Given the description of an element on the screen output the (x, y) to click on. 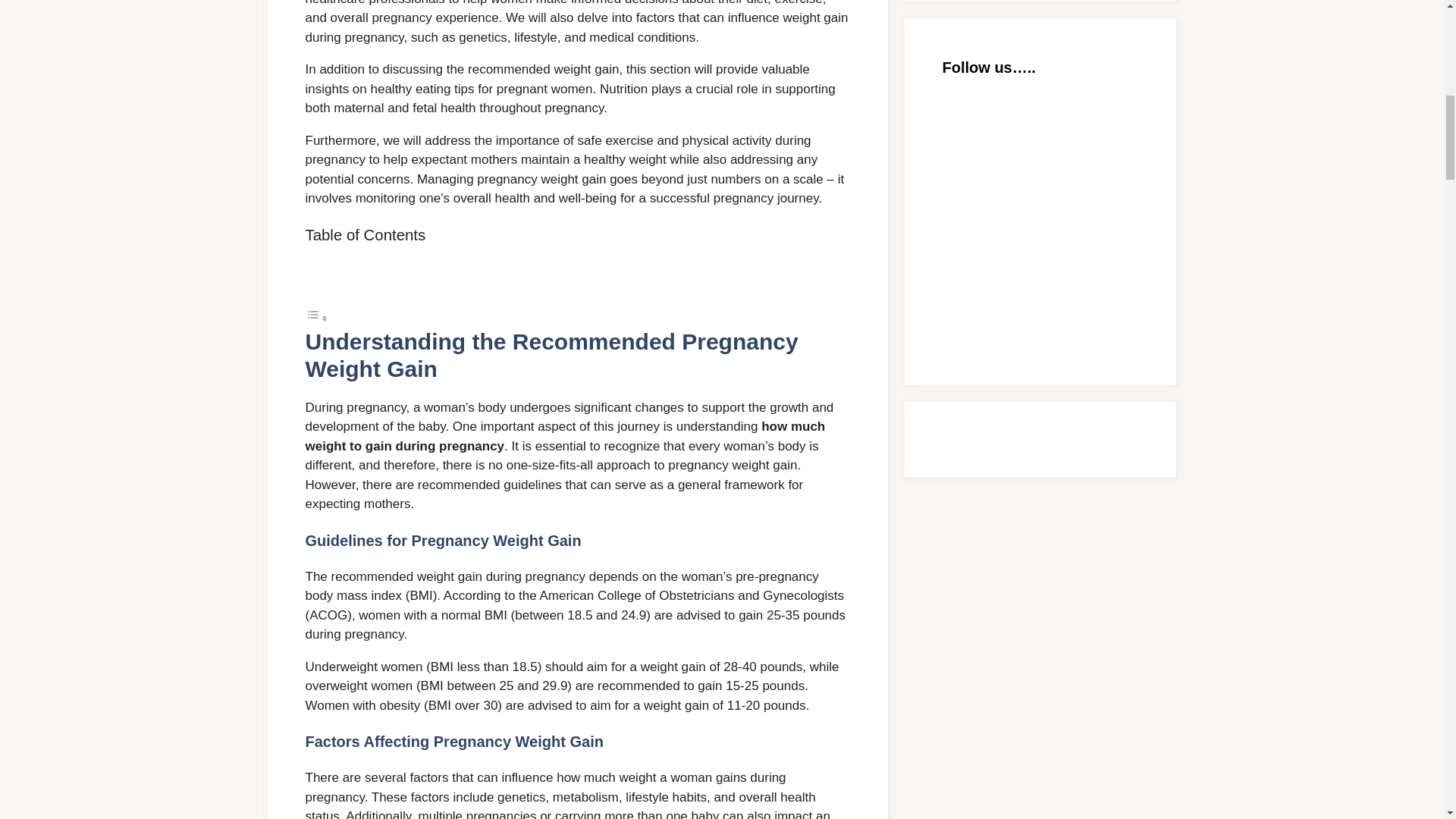
Facebook (1055, 284)
Email (1055, 158)
